Given the description of an element on the screen output the (x, y) to click on. 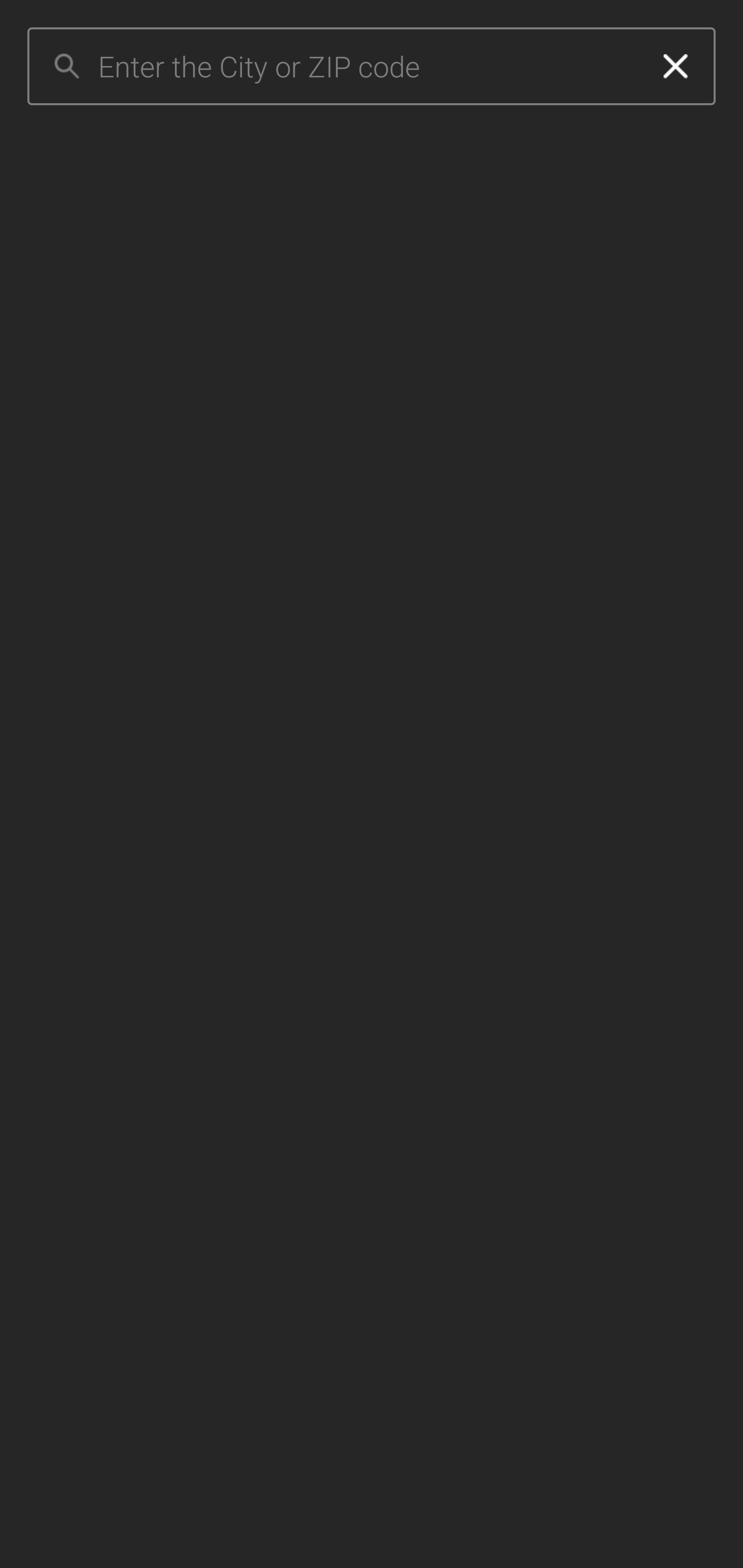
Enter the City or ZIP code (367, 66)
